Given the description of an element on the screen output the (x, y) to click on. 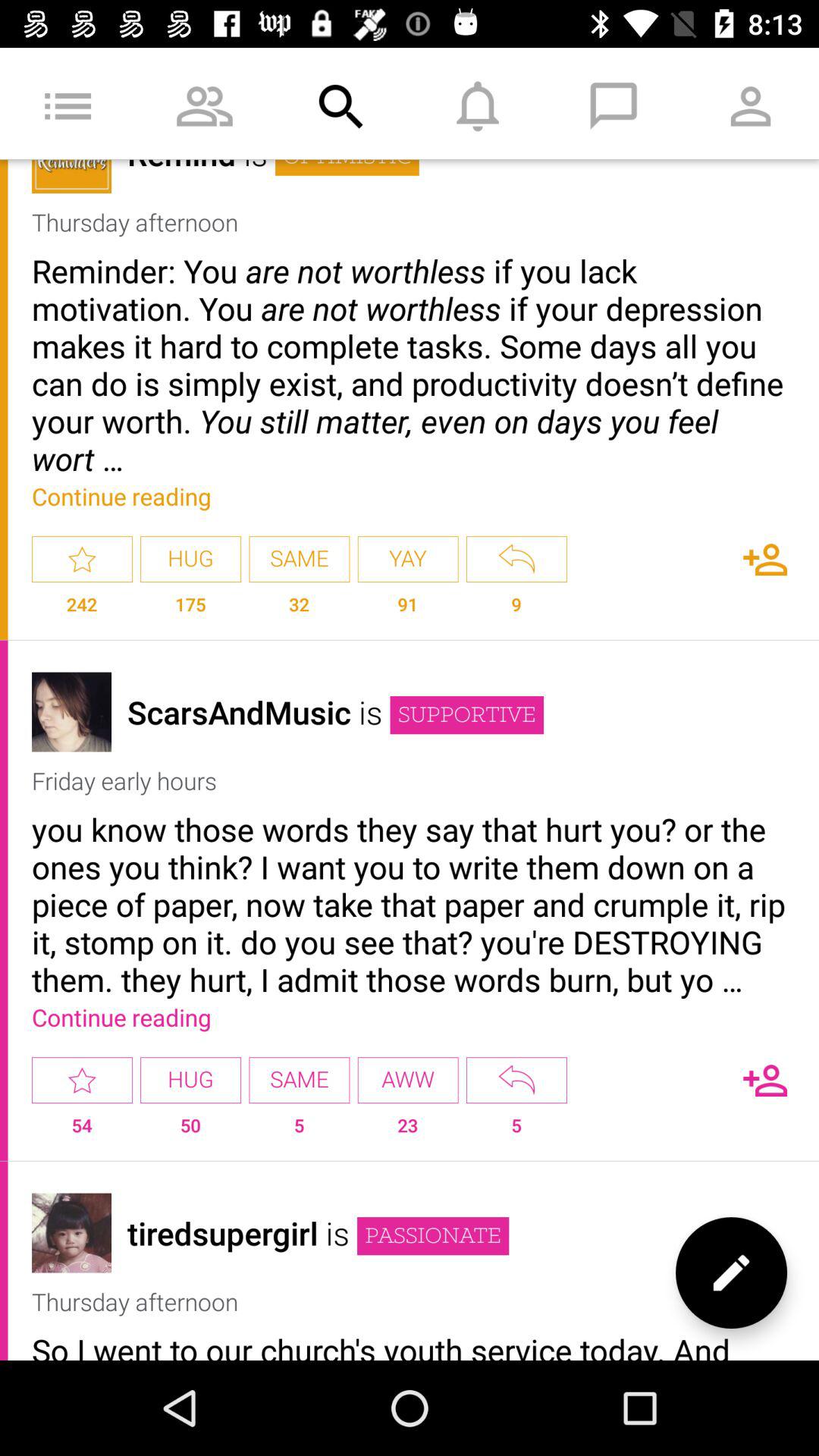
star this post (81, 1080)
